Given the description of an element on the screen output the (x, y) to click on. 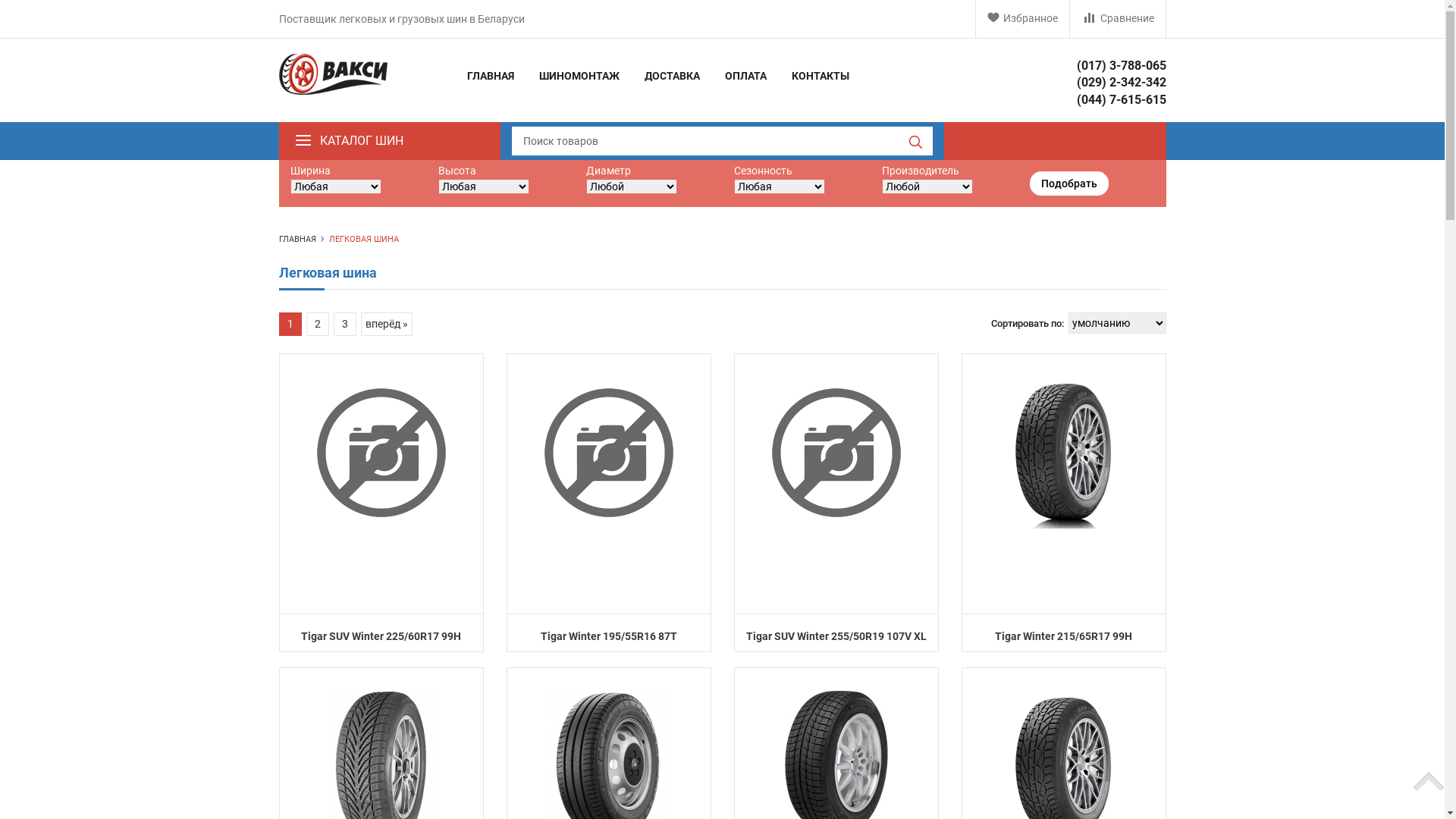
Tigar SUV Winter 225/60R17 99H Element type: text (381, 636)
Tigar SUV Winter 255/50R19 107V XL Element type: text (836, 636)
(044) 7-615-615 Element type: text (1121, 99)
Tigar Winter 195/55R16 87T Element type: text (607, 636)
Tigar Winter 215/65R17 99H Element type: hover (1063, 452)
2 Element type: text (317, 324)
3 Element type: text (344, 324)
Tigar Winter 215/65R17 99H Element type: text (1063, 636)
(029) 2-342-342 Element type: text (1121, 82)
(017) 3-788-065 Element type: text (1121, 65)
